Given the description of an element on the screen output the (x, y) to click on. 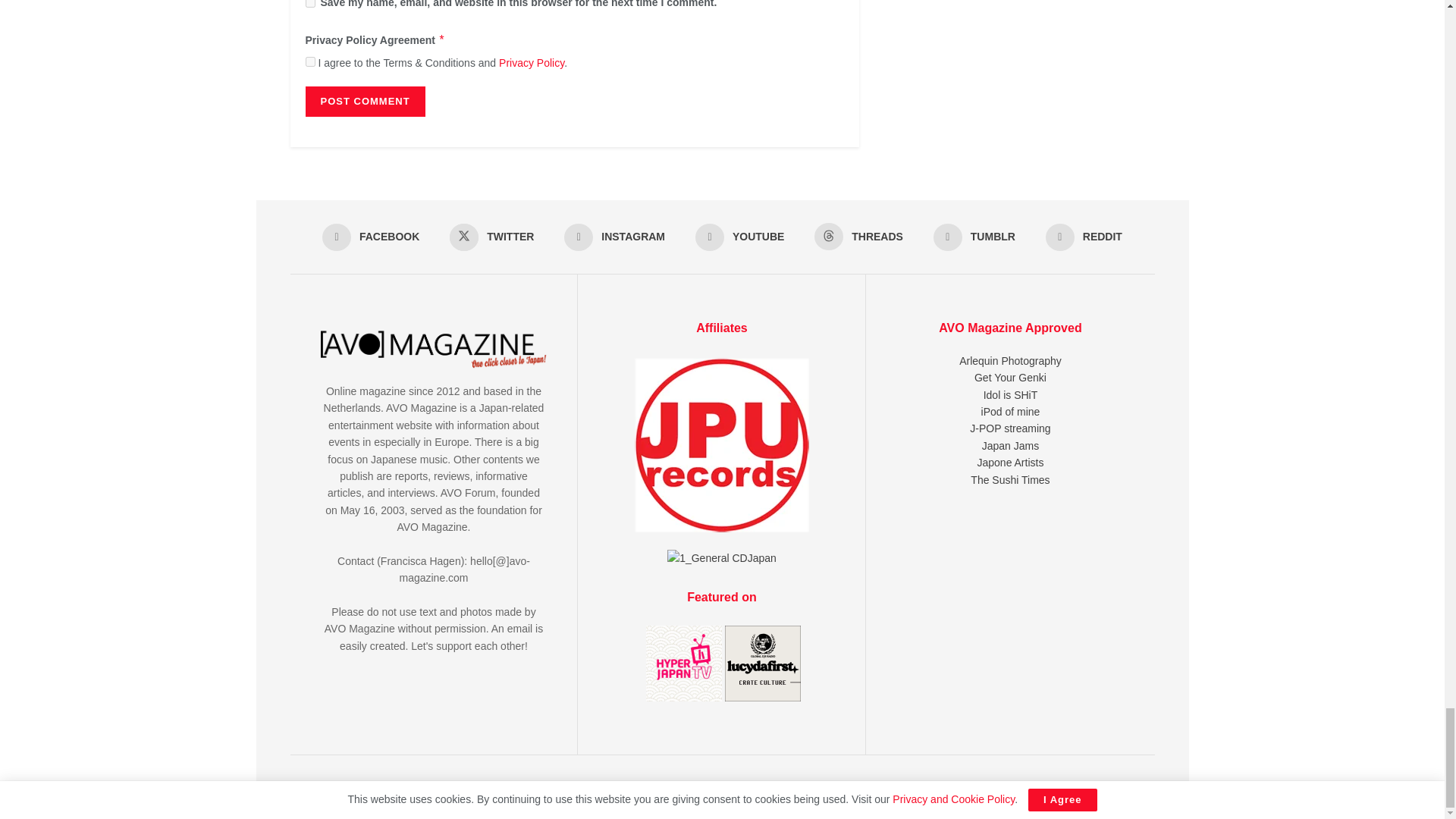
yes (309, 3)
Japanese theatrical group based in The Netherlands (1009, 462)
on (309, 61)
Post Comment (364, 101)
Making playlist of interesting music videos since 2016 (1011, 411)
